Given the description of an element on the screen output the (x, y) to click on. 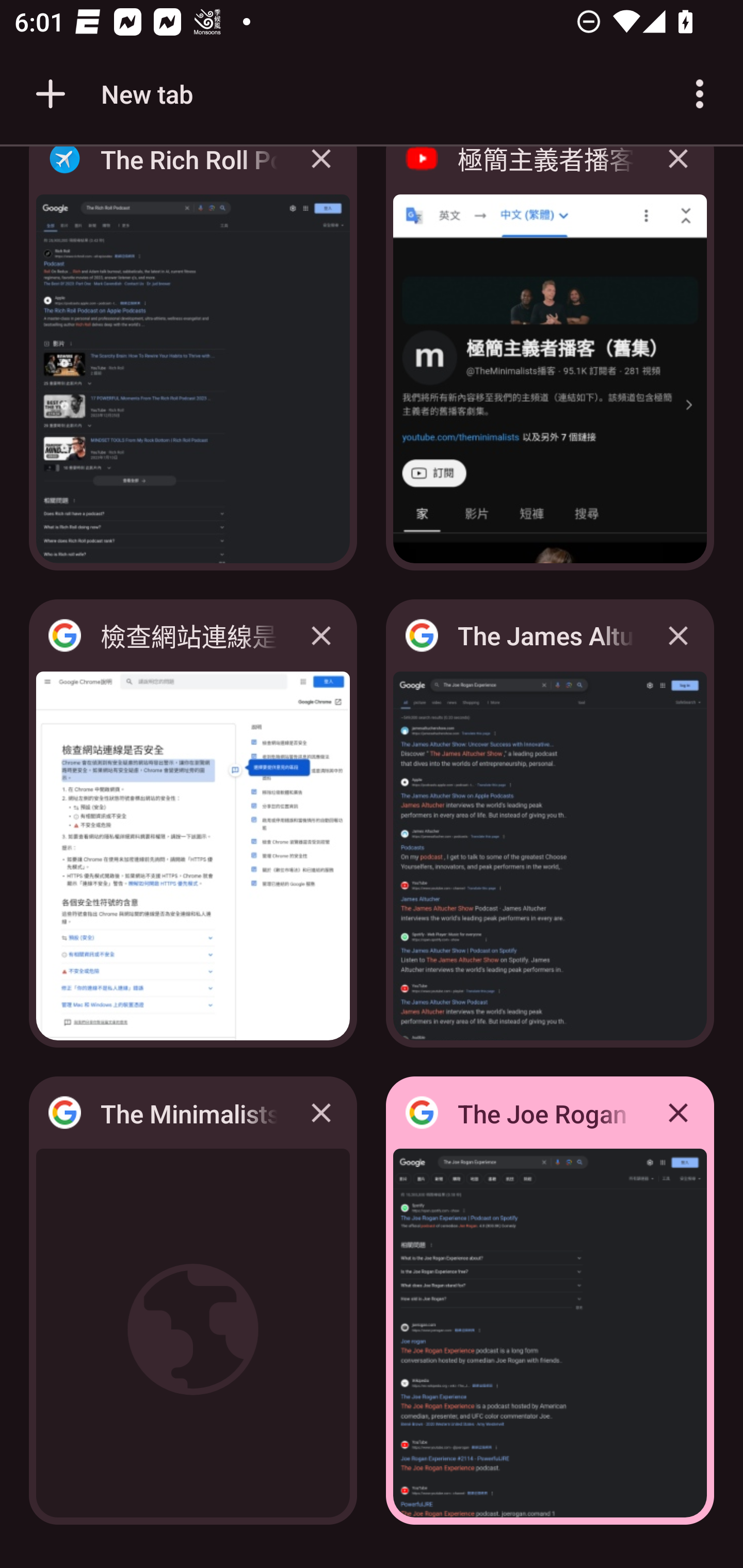
New tab (111, 93)
Customize and control Google Chrome (699, 93)
Close The Rich Roll Podcast - Google 搜尋 tab (320, 173)
Close 極簡主義者播客（舊劇集）- YouTube tab (677, 173)
Close 檢查網站連線是否安全 - Google Chrome說明 tab (320, 635)
Close The James Altucher Show - Google Search tab (677, 635)
Close The Minimalists Podcast - Google 搜尋 tab (320, 1112)
Close The Joe Rogan Experience - Google 搜尋 tab (677, 1112)
